Given the description of an element on the screen output the (x, y) to click on. 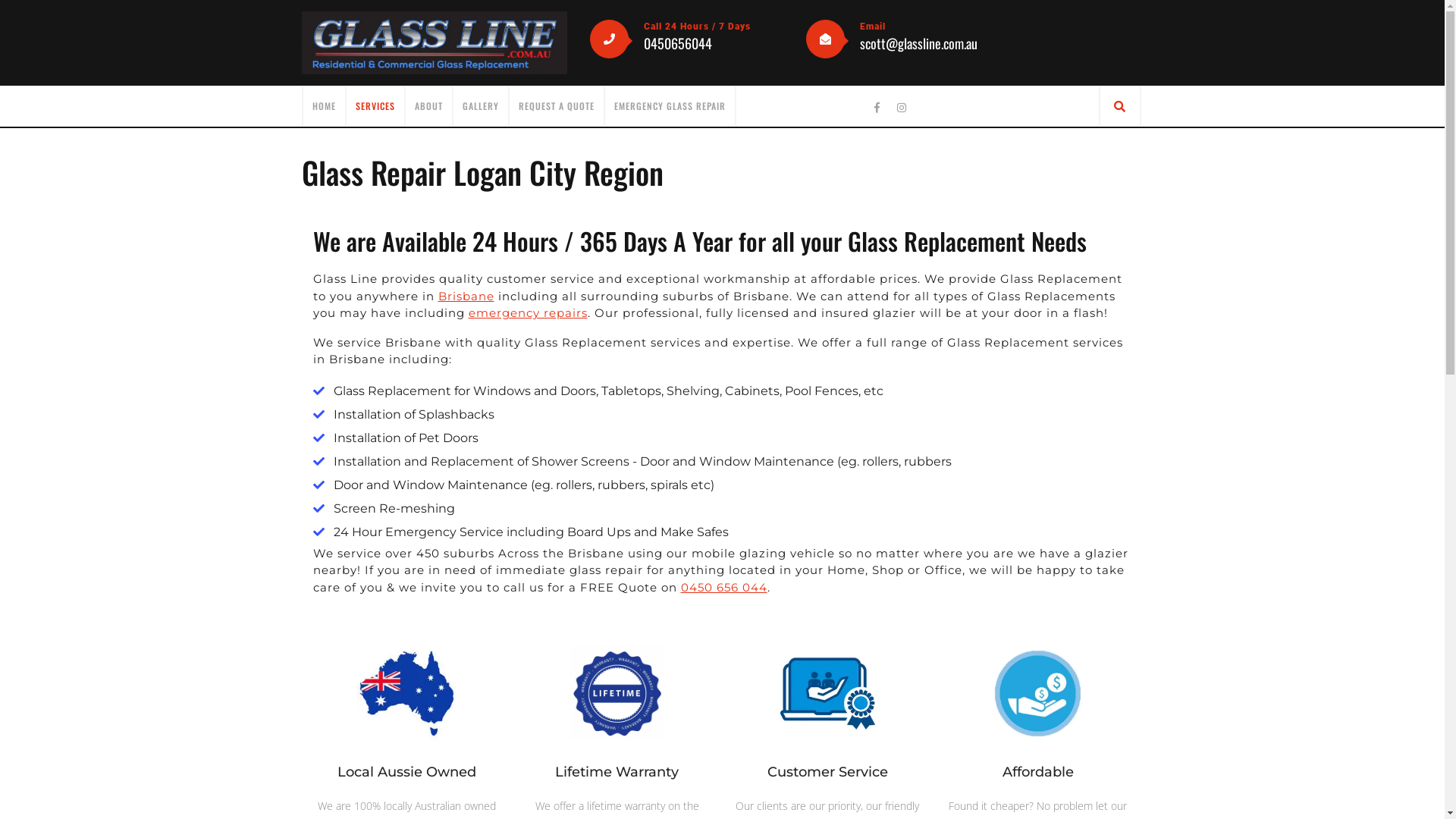
GALLERY Element type: text (480, 105)
HOME Element type: text (323, 105)
emergency repairs Element type: text (527, 312)
Brisbane Element type: text (466, 295)
SERVICES Element type: text (374, 105)
0450 656 044 Element type: text (723, 587)
REQUEST A QUOTE Element type: text (556, 105)
ABOUT Element type: text (428, 105)
EMERGENCY GLASS REPAIR Element type: text (669, 105)
